Given the description of an element on the screen output the (x, y) to click on. 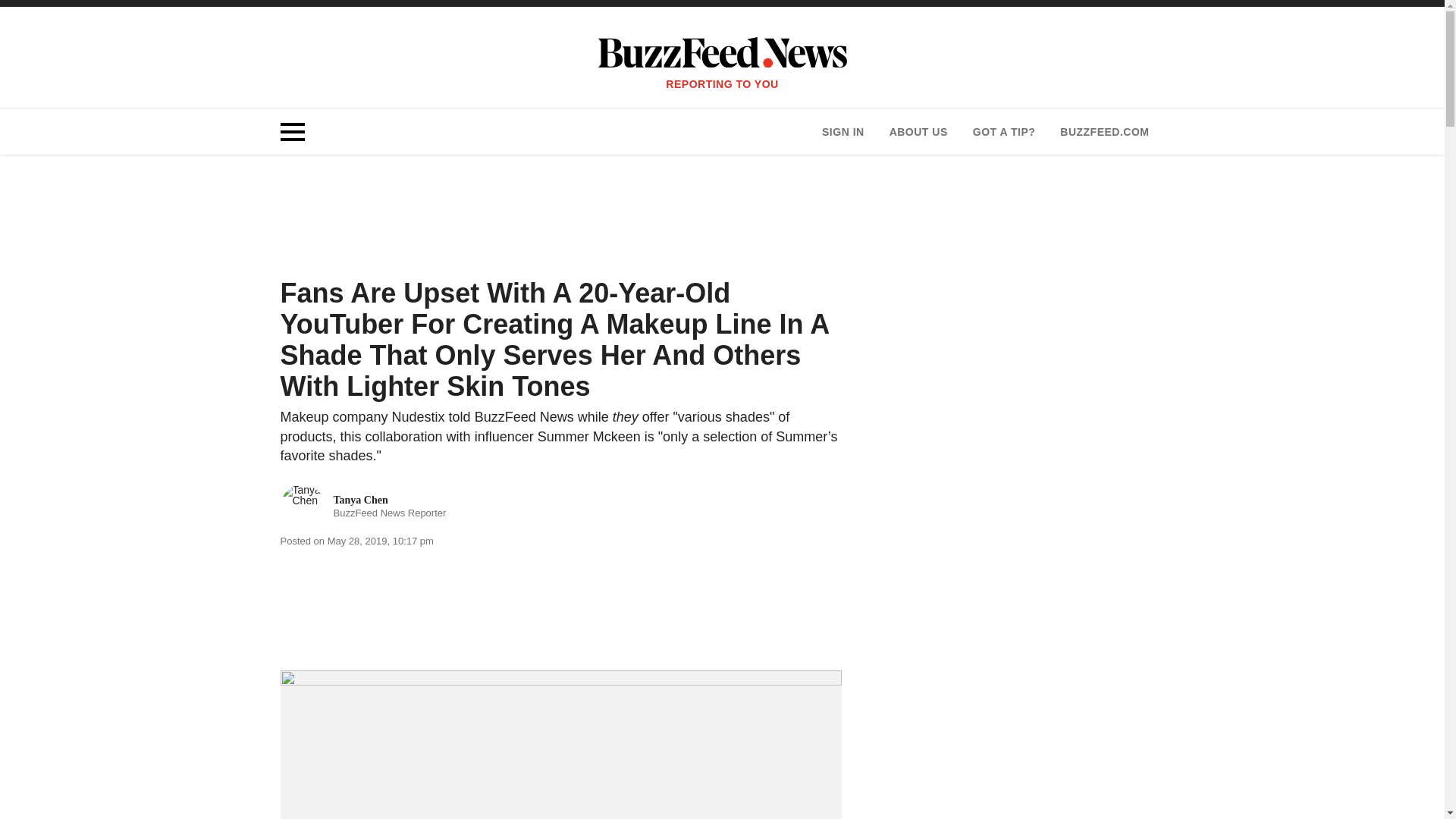
SIGN IN (363, 506)
ABOUT US (842, 131)
BUZZFEED.COM (917, 131)
GOT A TIP? (1103, 131)
